Given the description of an element on the screen output the (x, y) to click on. 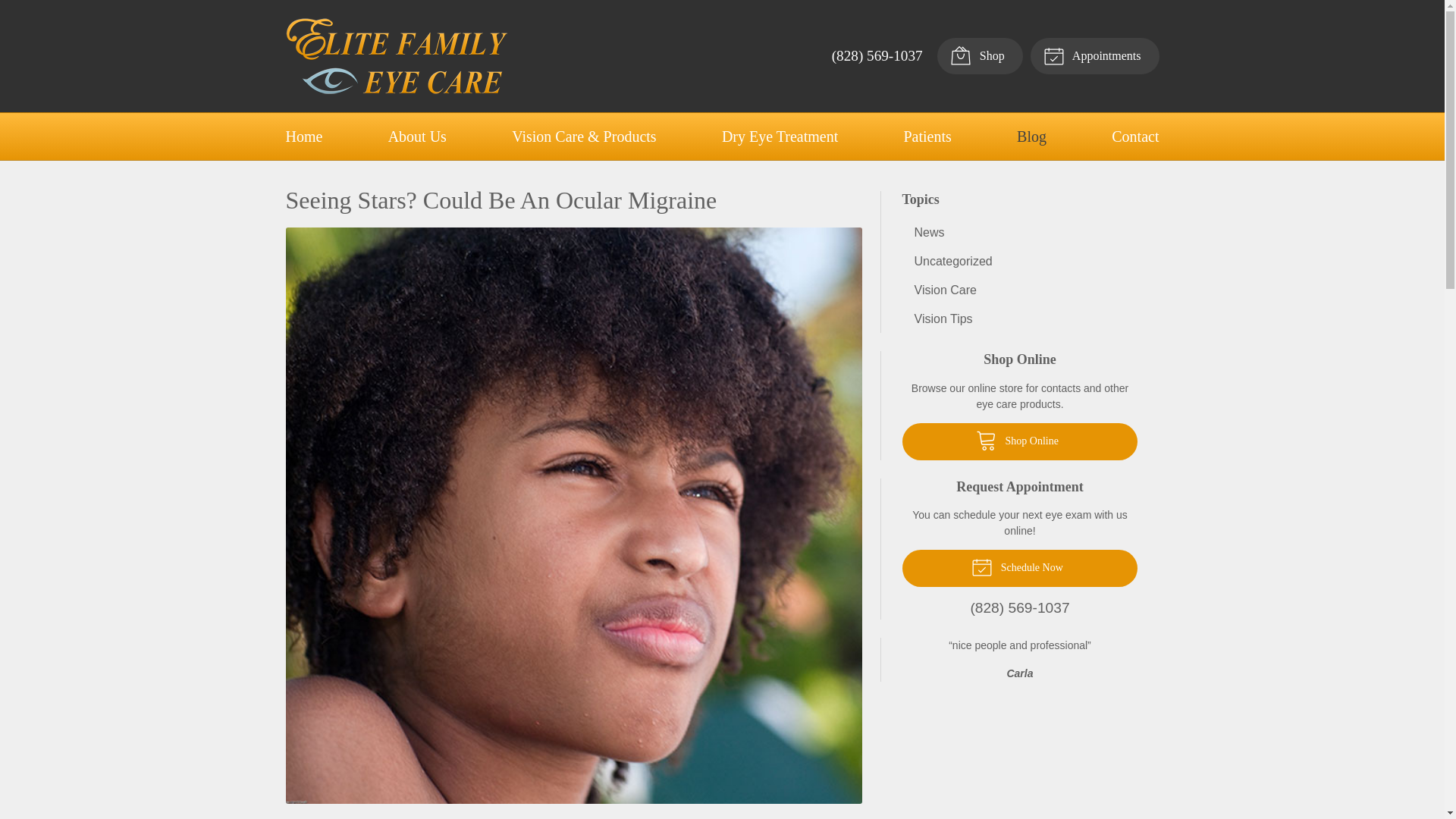
Blog (1031, 136)
Request Appointment (1094, 55)
Home (303, 136)
Elite Family Eye Care (395, 56)
Vision Tips (1020, 318)
Dry Eye Treatment (780, 136)
About Us (417, 136)
Shop Online (1020, 441)
Call practice (877, 55)
Call practice (1020, 608)
News (1020, 232)
Patients (926, 136)
Vision Care (1020, 289)
Shop Online (1020, 441)
